Given the description of an element on the screen output the (x, y) to click on. 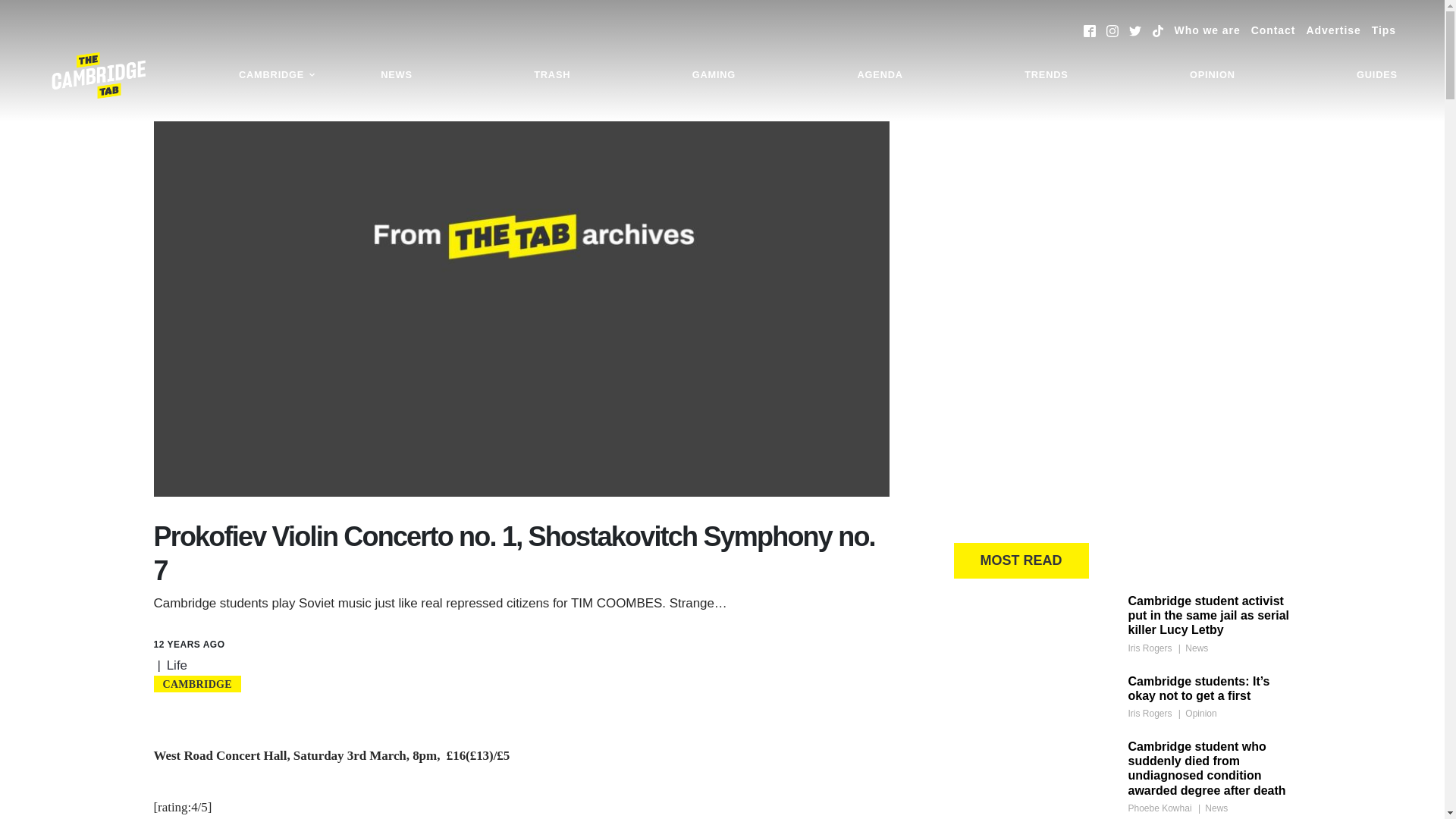
TRENDS (1045, 75)
GUIDES (1377, 75)
TRASH (551, 75)
Tips (1383, 29)
CAMBRIDGE (277, 75)
OPINION (1211, 75)
AGENDA (879, 75)
GAMING (713, 75)
Who we are (1207, 29)
Advertise (1332, 29)
Contact (1272, 29)
NEWS (396, 75)
